Given the description of an element on the screen output the (x, y) to click on. 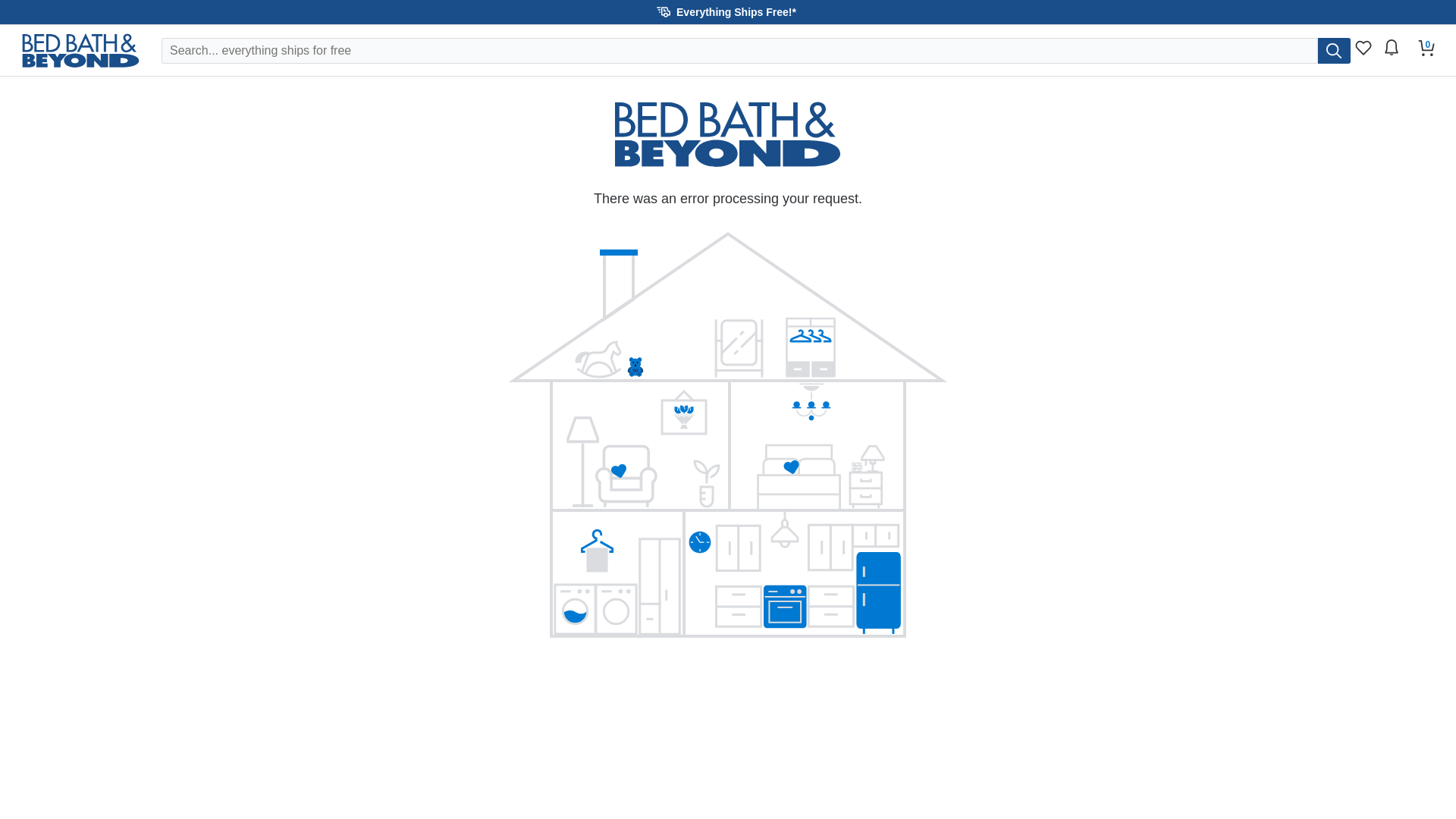
Heart (1363, 47)
Bell (1391, 47)
Cart Empty (1426, 47)
Heart (1363, 51)
